Given the description of an element on the screen output the (x, y) to click on. 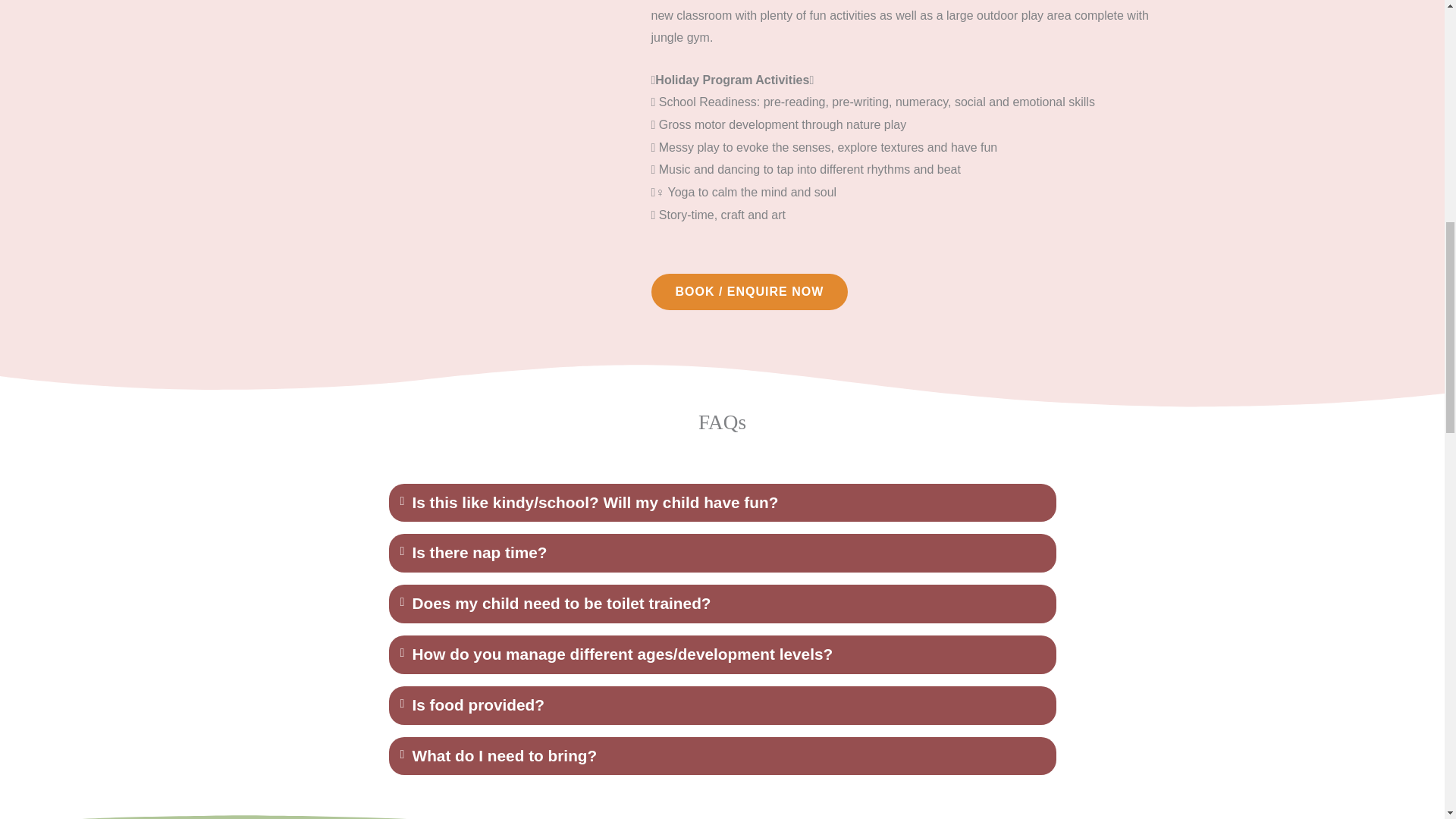
Is food provided? (478, 704)
What do I need to bring? (504, 755)
Is there nap time? (479, 552)
Does my child need to be toilet trained? (561, 602)
